Given the description of an element on the screen output the (x, y) to click on. 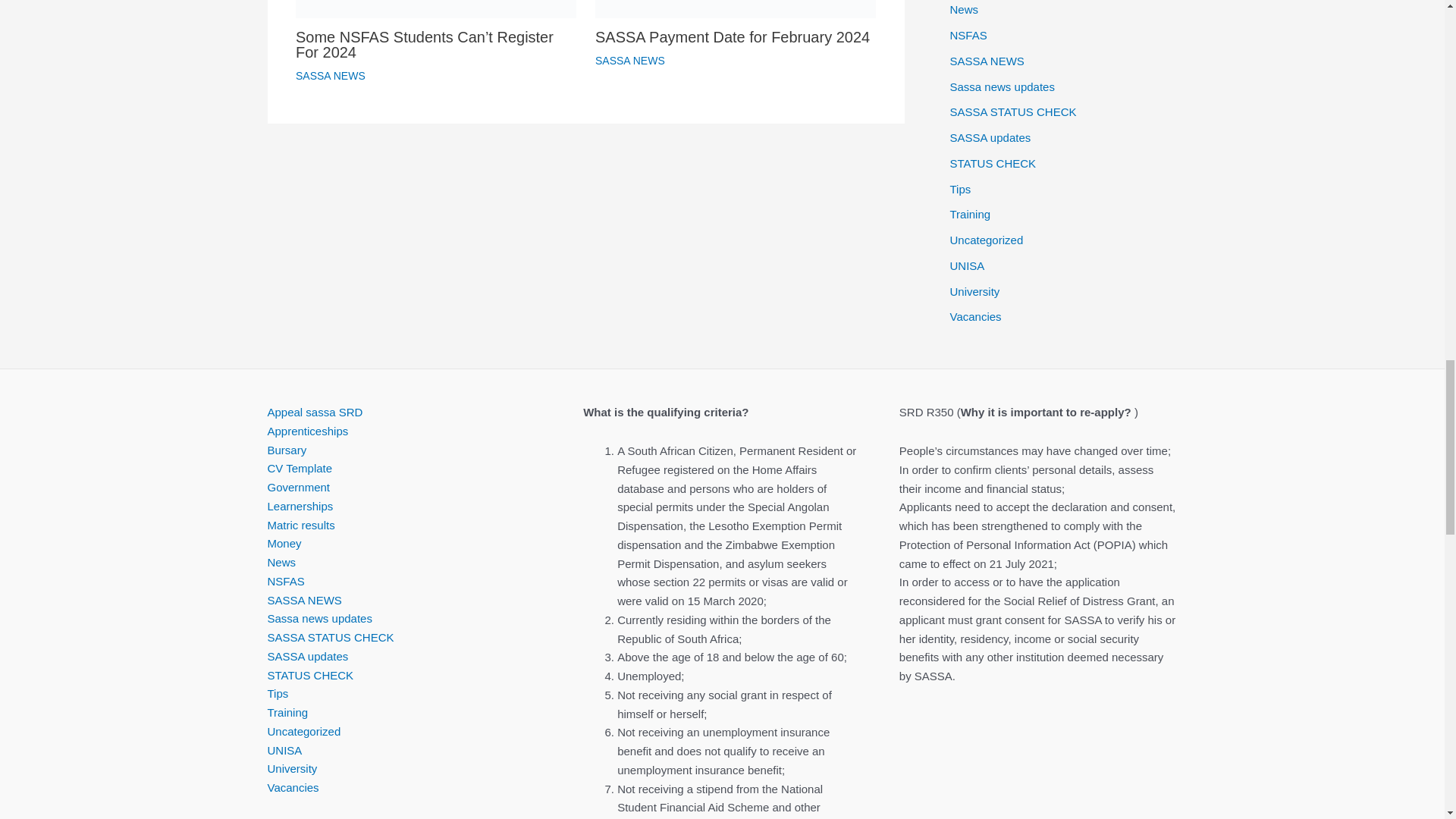
SASSA NEWS (330, 75)
SASSA Payment Date for February 2024 (732, 36)
SASSA NEWS (630, 60)
